Given the description of an element on the screen output the (x, y) to click on. 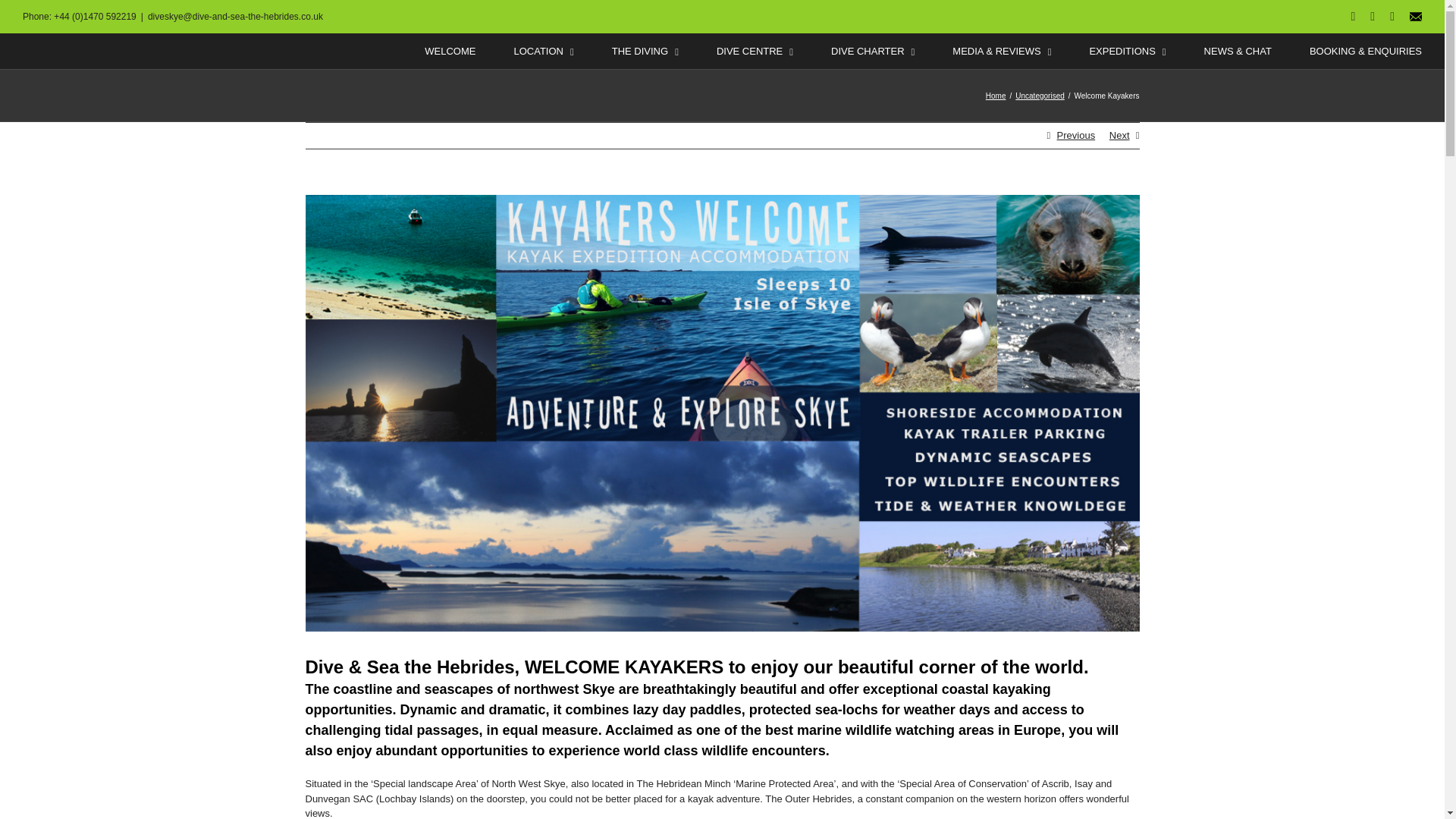
DIVE CHARTER (872, 50)
LOCATION (543, 50)
WELCOME (450, 50)
THE DIVING (644, 50)
DIVE CENTRE (754, 50)
Custom (1415, 16)
Custom (1415, 16)
